Given the description of an element on the screen output the (x, y) to click on. 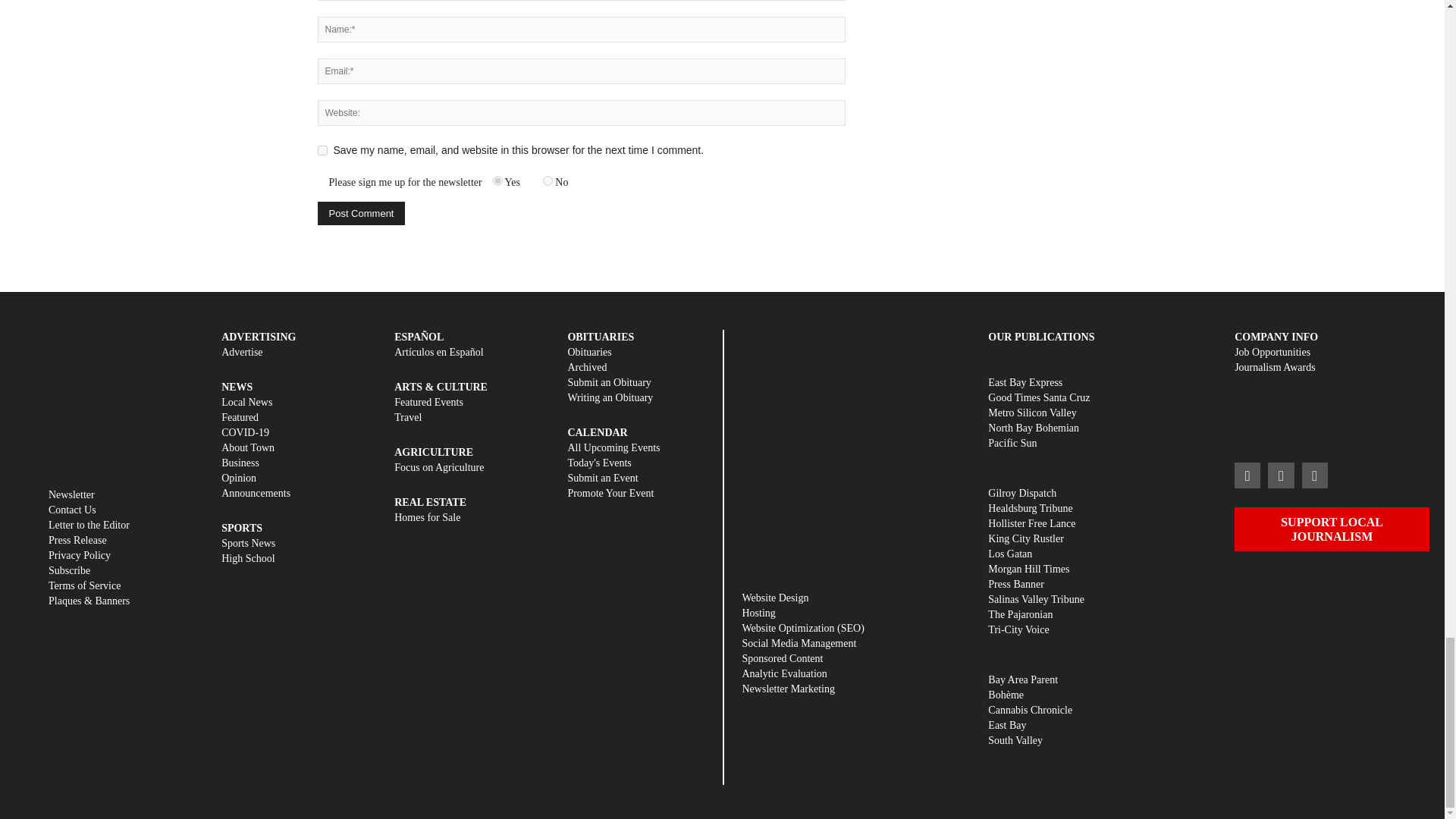
Post Comment (360, 213)
No (548, 180)
Yes (497, 180)
yes (321, 150)
